Given the description of an element on the screen output the (x, y) to click on. 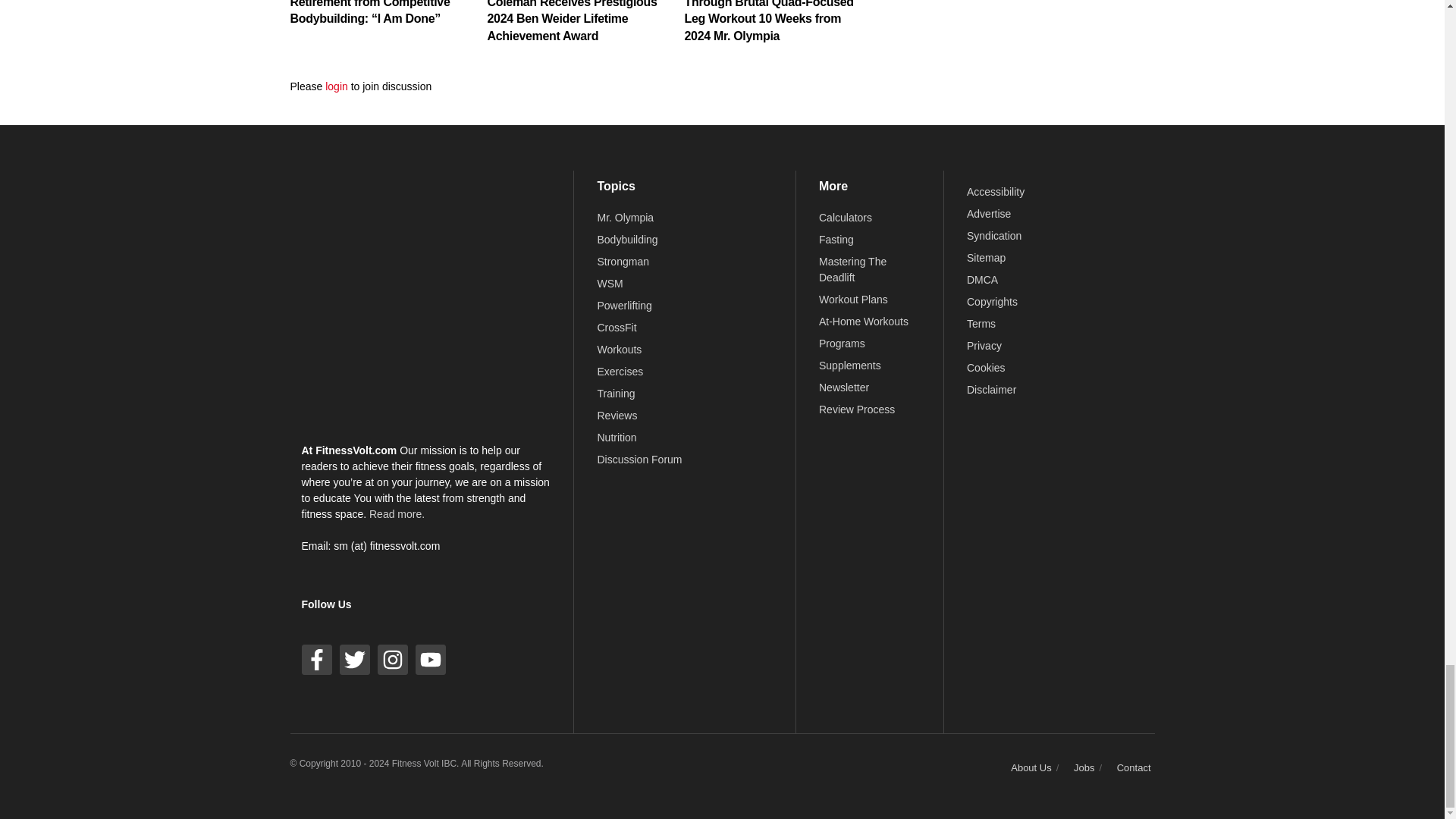
Accessibility Conformance Status (995, 191)
2019 Mr. Olympia News (624, 217)
Read more about Fitness Volt (397, 513)
